Given the description of an element on the screen output the (x, y) to click on. 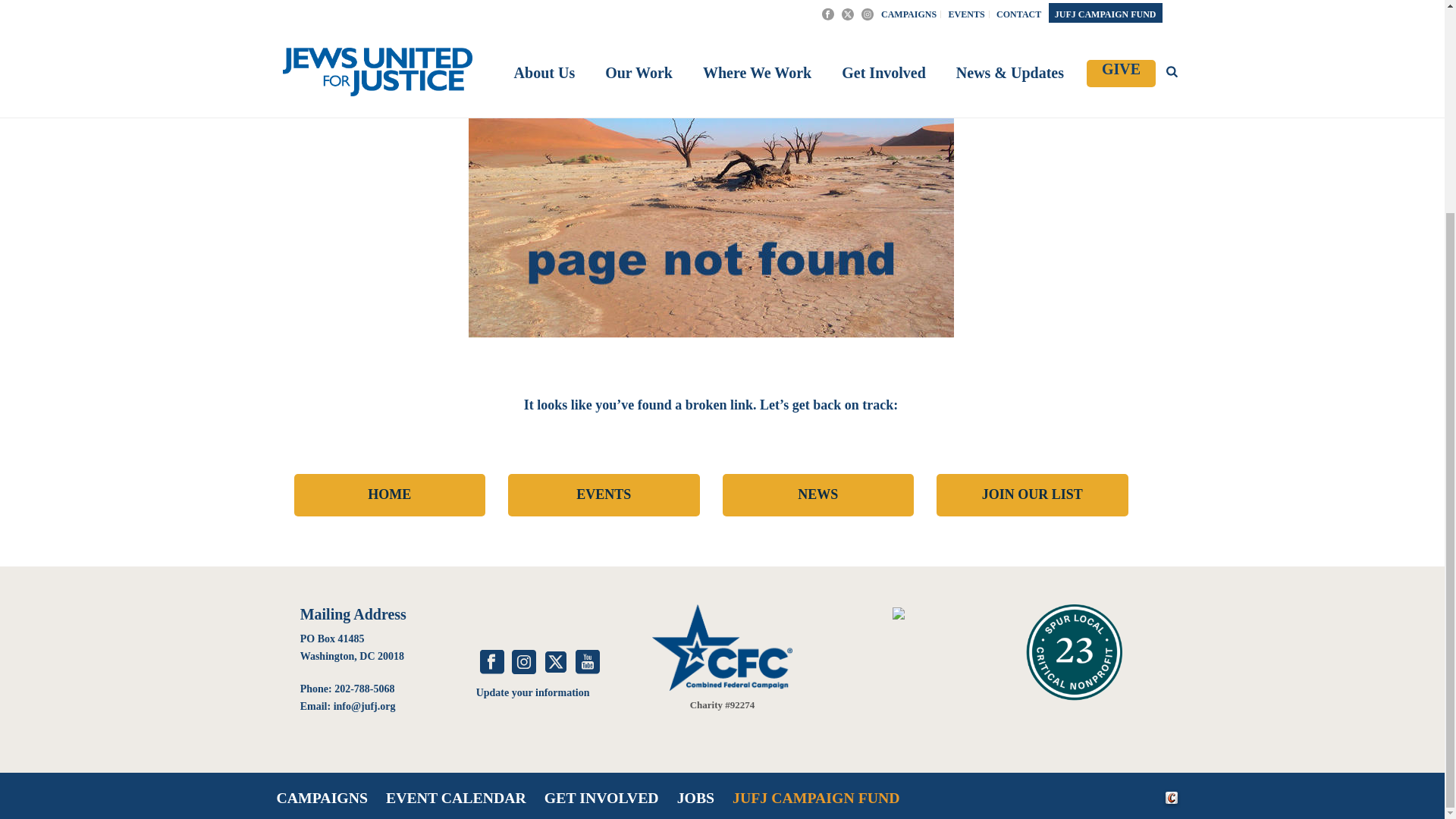
Social: twitter (555, 663)
NEWS (818, 495)
HOME (390, 495)
JOIN OUR LIST (1032, 495)
Social: instagram (523, 663)
Social: youtube (587, 663)
Social: facebook (491, 663)
EVENTS (604, 495)
